Given the description of an element on the screen output the (x, y) to click on. 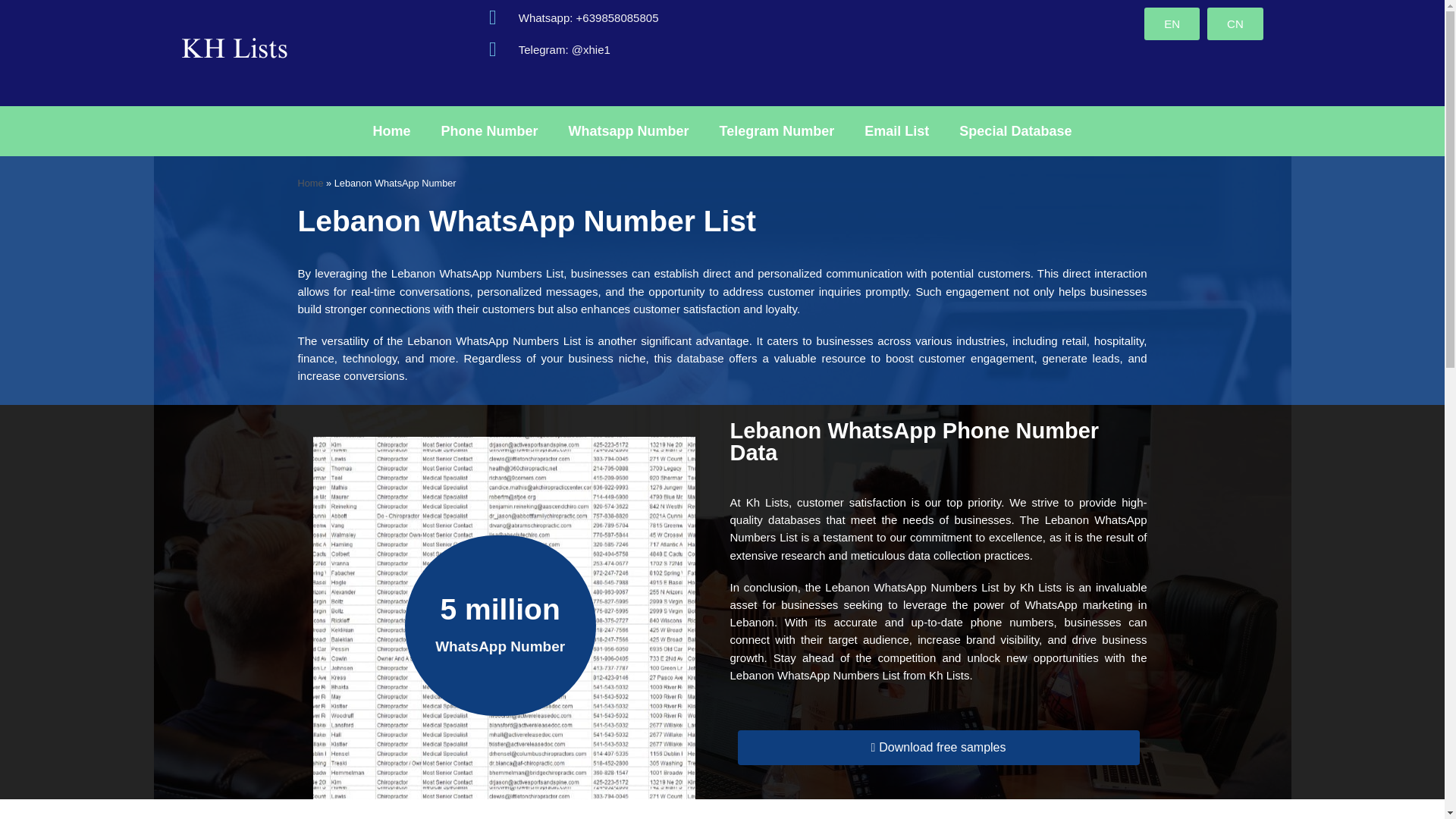
Special Database (1014, 130)
Home (310, 183)
Phone Number (489, 130)
CN (1235, 23)
Download free samples (937, 747)
Telegram Number (777, 130)
EN (1171, 23)
Whatsapp Number (628, 130)
Email List (895, 130)
Home (392, 130)
